Given the description of an element on the screen output the (x, y) to click on. 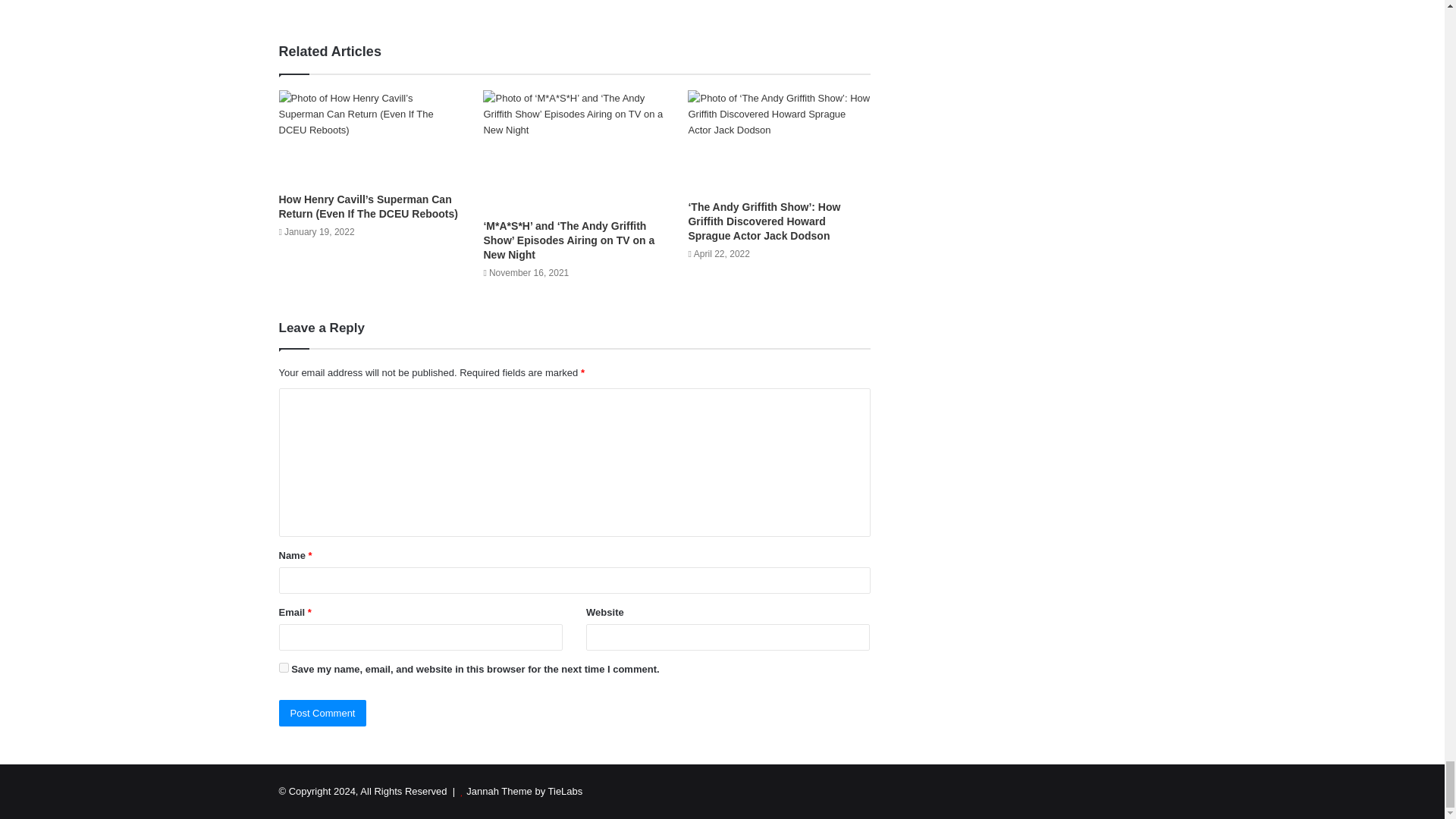
yes (283, 667)
Website (381, 2)
Post Comment (322, 713)
Post Comment (322, 713)
